Given the description of an element on the screen output the (x, y) to click on. 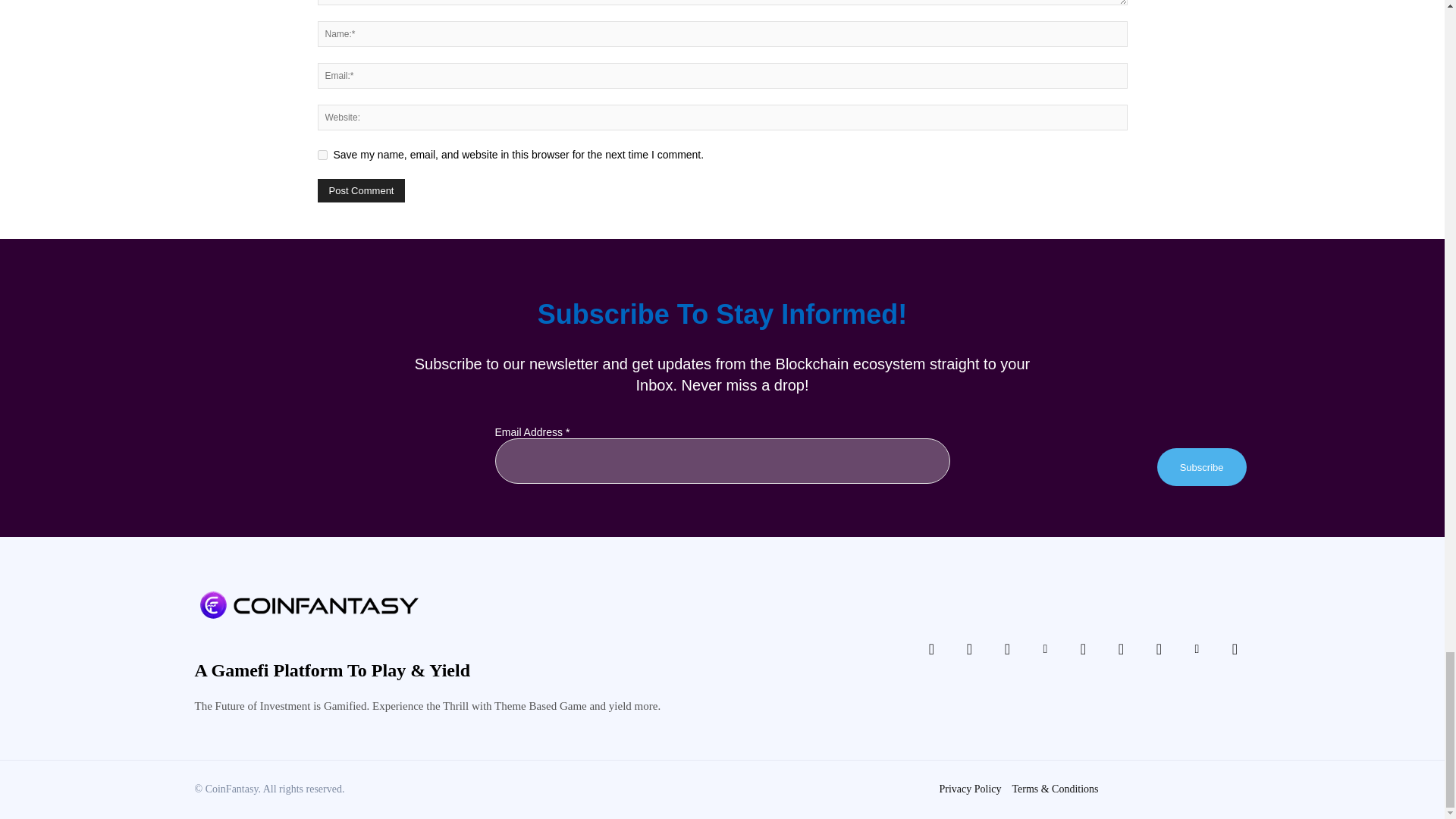
Post Comment (360, 190)
Discord (930, 648)
Subscribe (1201, 466)
CF Logo (307, 604)
yes (321, 154)
